Given the description of an element on the screen output the (x, y) to click on. 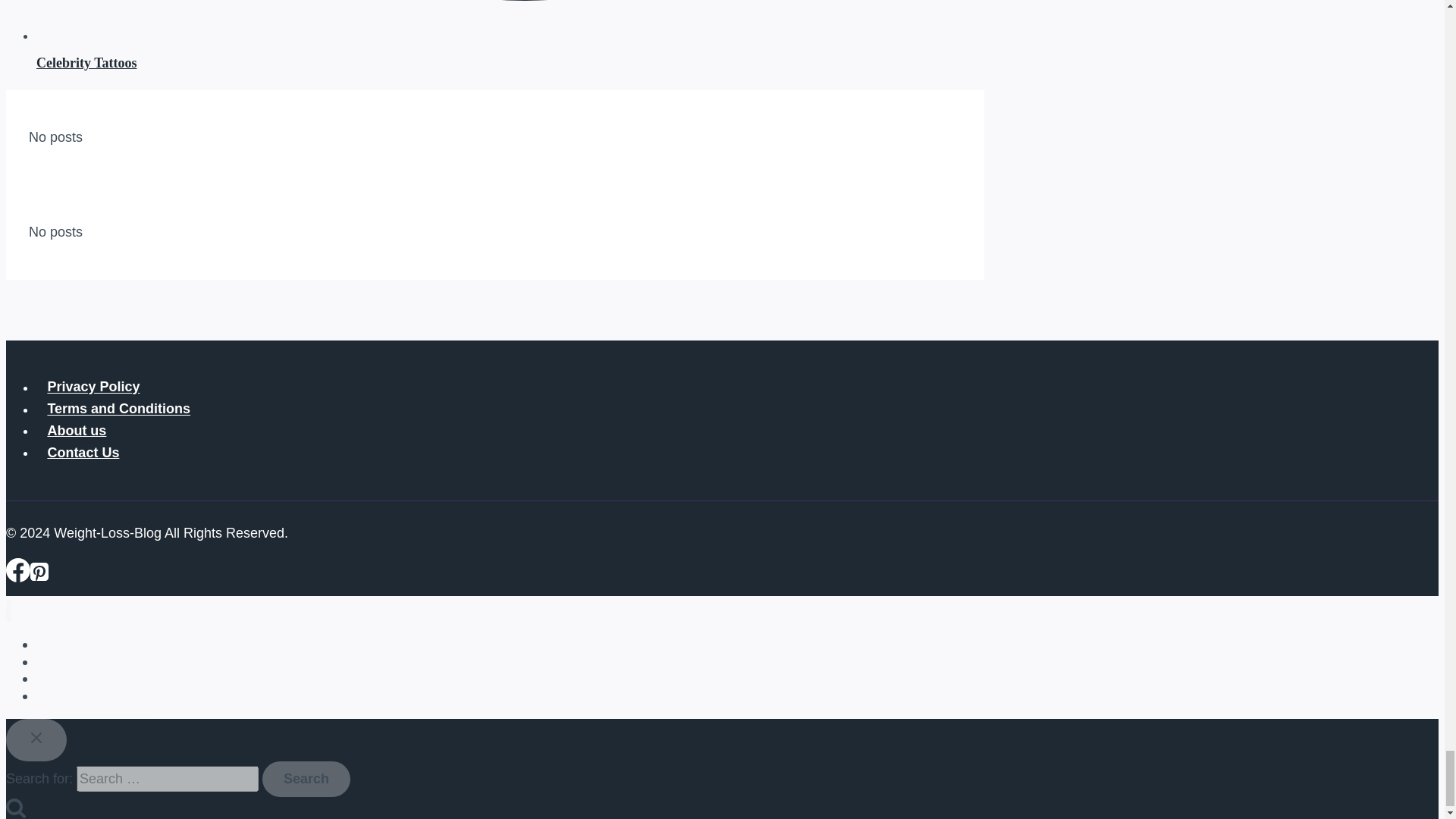
Search (15, 807)
Search (306, 779)
Toggle Menu Close (36, 737)
Search (306, 779)
Facebook (17, 569)
